Given the description of an element on the screen output the (x, y) to click on. 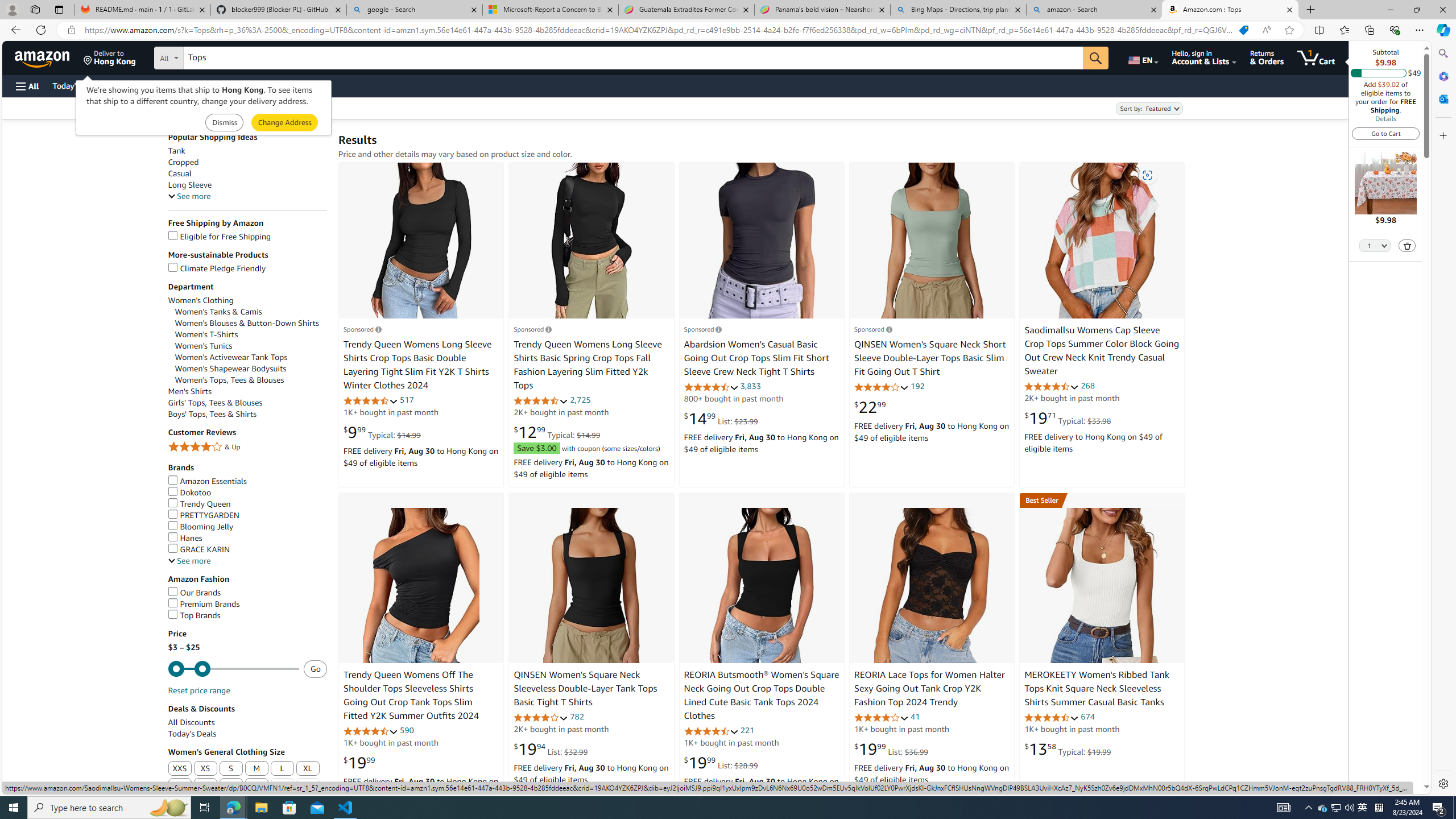
Blooming Jelly (200, 526)
3,833 (750, 385)
Maximum (233, 668)
Open Menu (26, 86)
Gift Cards (251, 85)
Deliver to Hong Kong (109, 57)
4.3 out of 5 stars (370, 730)
268 (1087, 384)
Hello, sign in Account & Lists (1203, 57)
Reset price range (198, 690)
Men's Shirts (247, 391)
Trendy Queen (199, 503)
Go - Submit price range (315, 668)
